Given the description of an element on the screen output the (x, y) to click on. 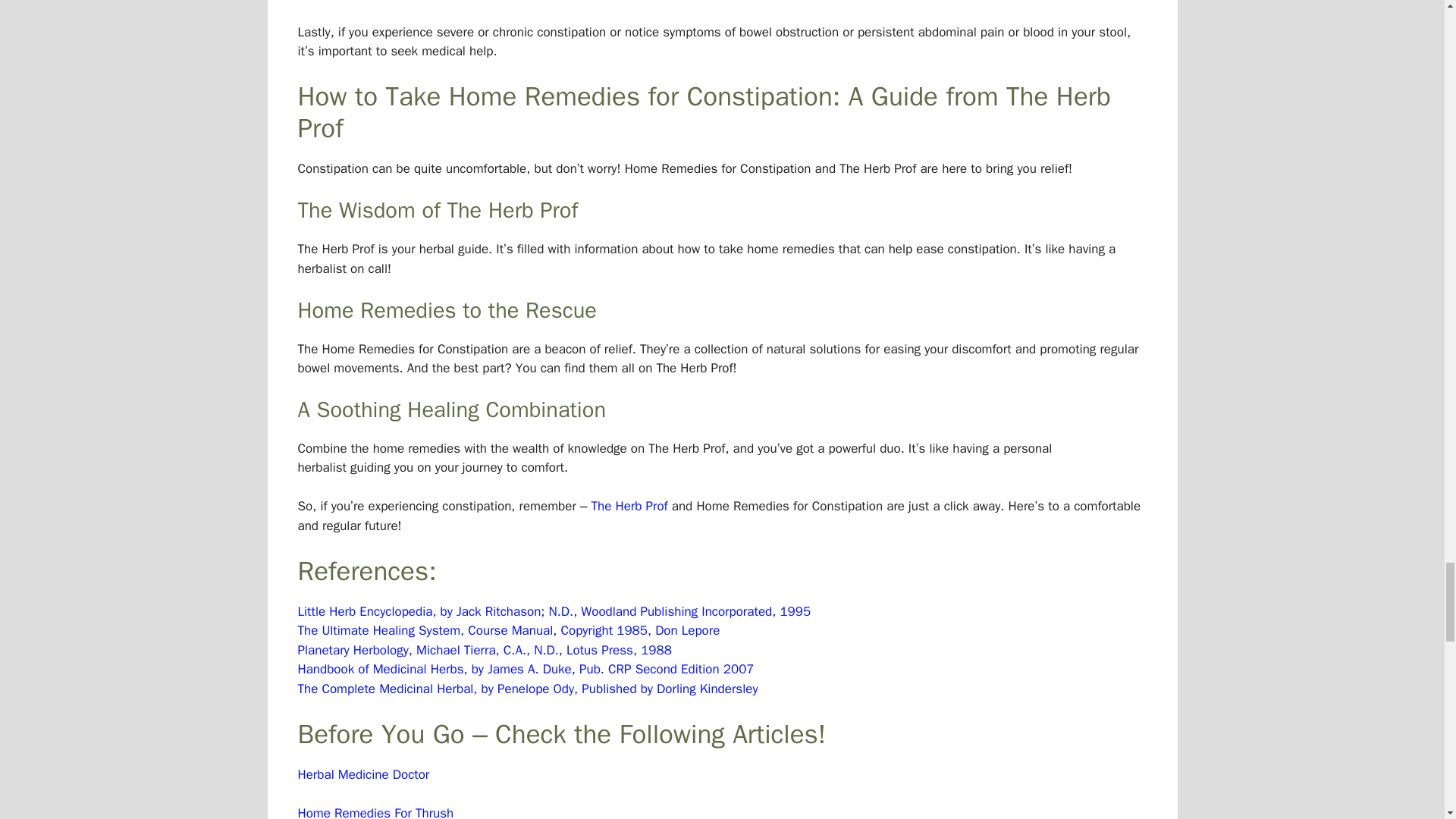
The Herb Prof (629, 505)
Home Remedies For Thrush (374, 812)
Herbal Medicine Doctor (363, 774)
